Given the description of an element on the screen output the (x, y) to click on. 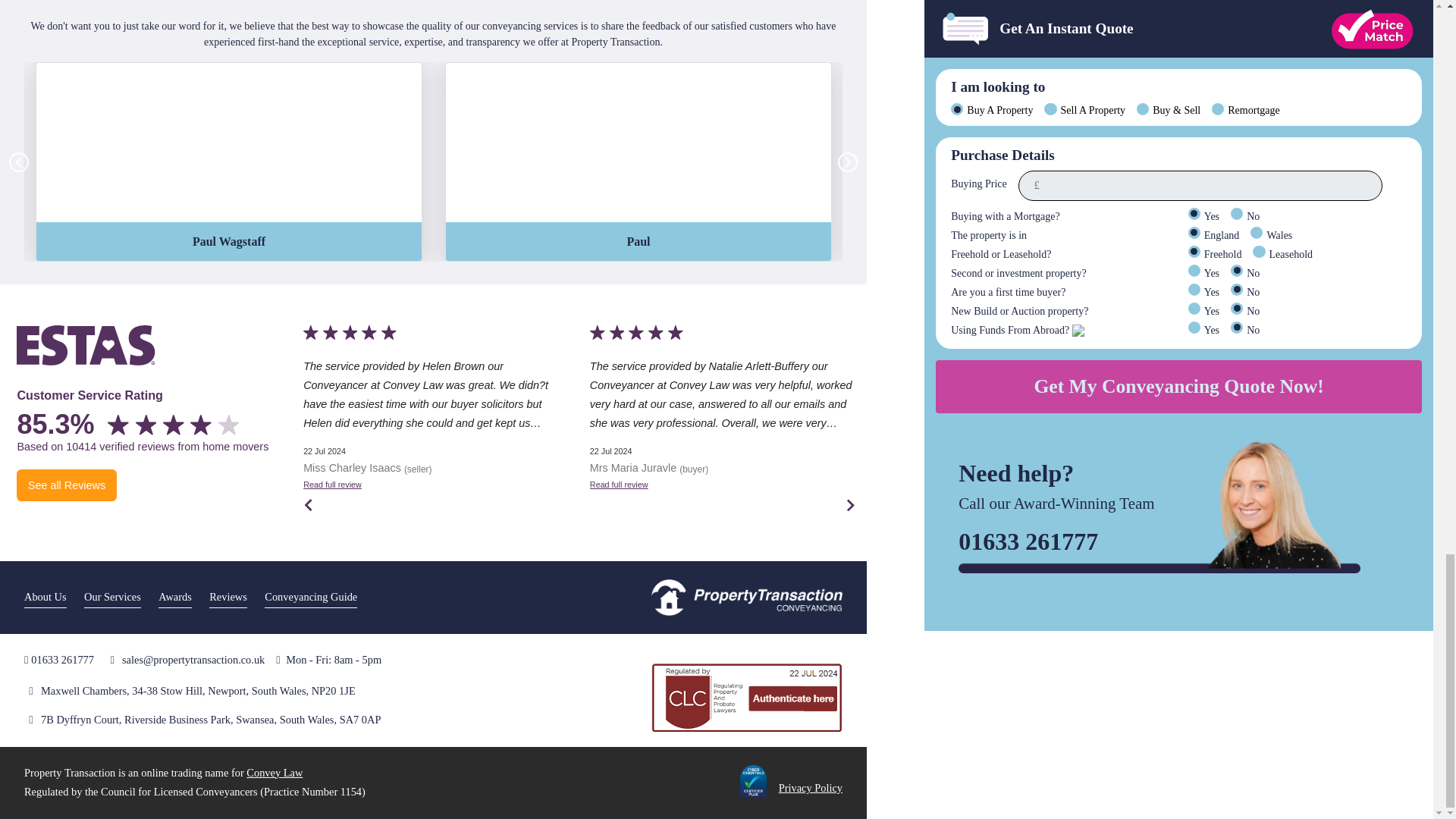
YouTube video player (638, 142)
YouTube video player (229, 142)
